Given the description of an element on the screen output the (x, y) to click on. 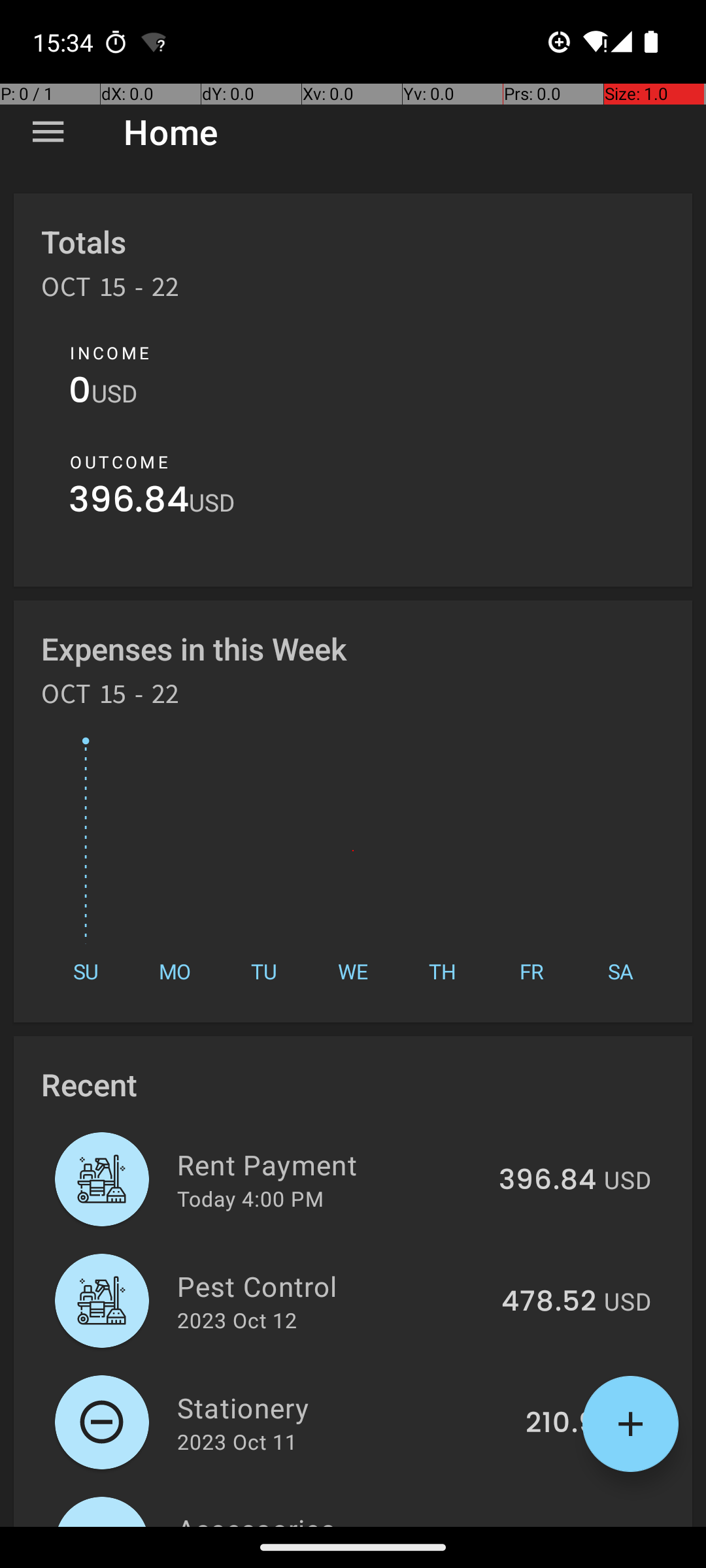
396.84 Element type: android.widget.TextView (128, 502)
Rent Payment Element type: android.widget.TextView (330, 1164)
Today 4:00 PM Element type: android.widget.TextView (250, 1198)
Pest Control Element type: android.widget.TextView (331, 1285)
478.52 Element type: android.widget.TextView (548, 1301)
210.9 Element type: android.widget.TextView (560, 1423)
Accessories Element type: android.widget.TextView (330, 1518)
496.02 Element type: android.widget.TextView (547, 1524)
